Given the description of an element on the screen output the (x, y) to click on. 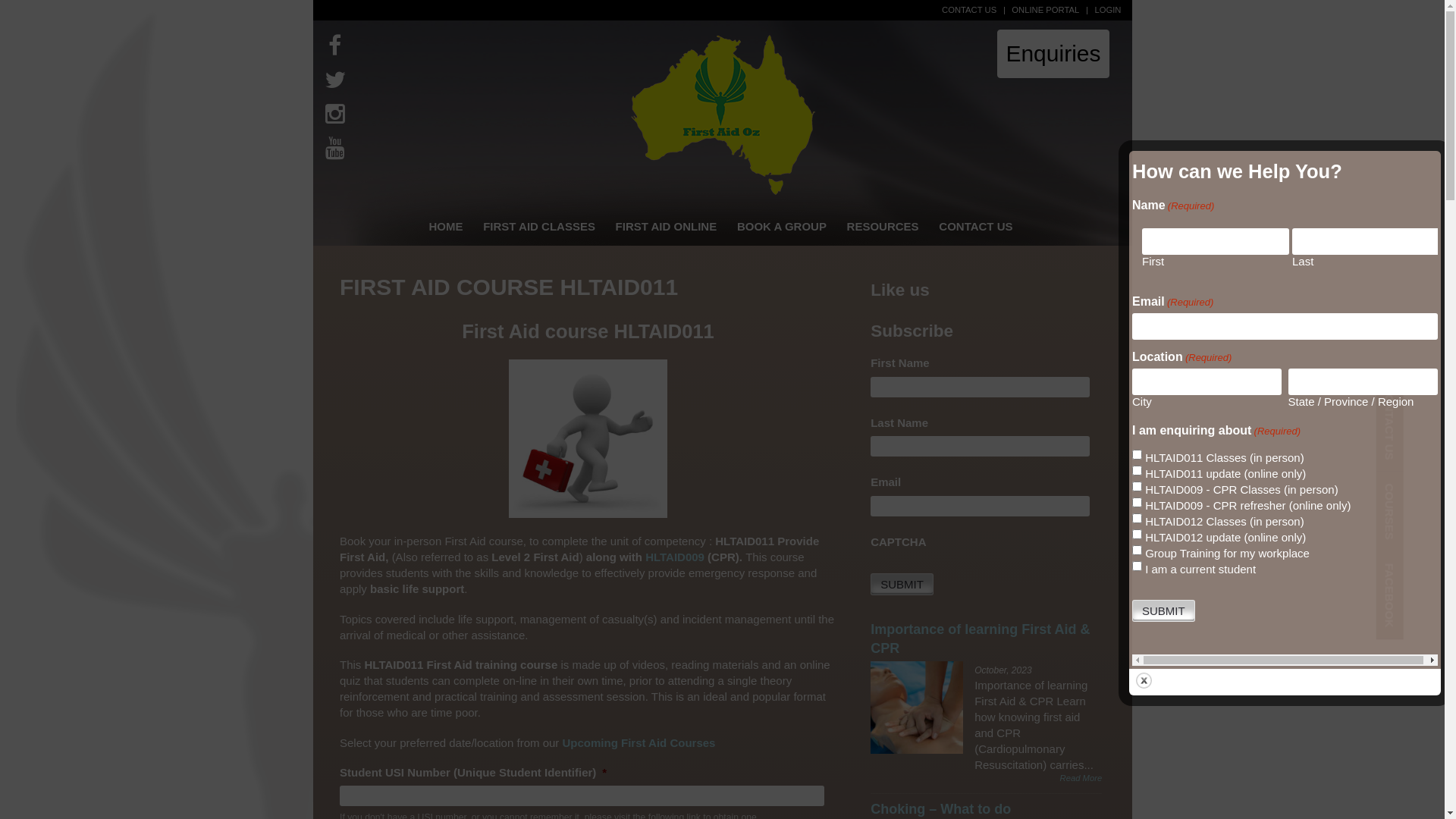
Importance of learning First Aid & CPR Element type: hover (916, 707)
ONLINE PORTAL Element type: text (1042, 9)
Read More Element type: text (985, 778)
Submit Element type: text (901, 584)
Enquiries Element type: text (1052, 53)
LOGIN Element type: text (1104, 9)
FIRST AID CLASSES Element type: text (538, 225)
CONTACT US Element type: text (975, 225)
COURSES Element type: text (1415, 485)
HOME Element type: text (445, 225)
RESOURCES Element type: text (882, 225)
BOOK A GROUP Element type: text (781, 225)
Close Element type: hover (1143, 679)
FIRST AID ONLINE Element type: text (665, 225)
Submit Element type: text (1163, 610)
CONTACT US Element type: text (966, 9)
HLTAID009 Element type: text (674, 556)
Upcoming First Aid Courses Element type: text (638, 742)
Importance of learning First Aid & CPR Element type: text (979, 638)
